Given the description of an element on the screen output the (x, y) to click on. 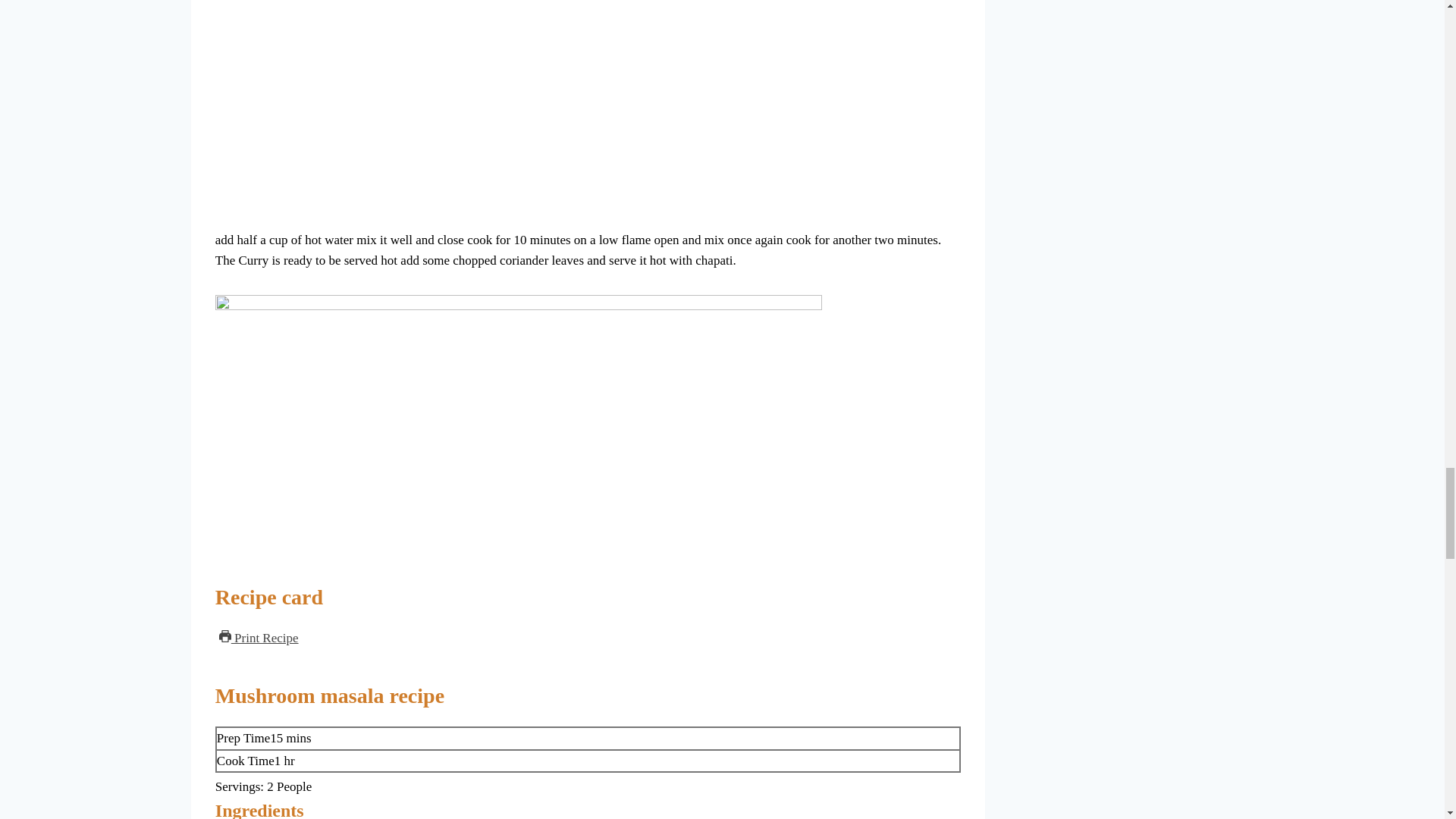
Print Recipe (258, 638)
